Given the description of an element on the screen output the (x, y) to click on. 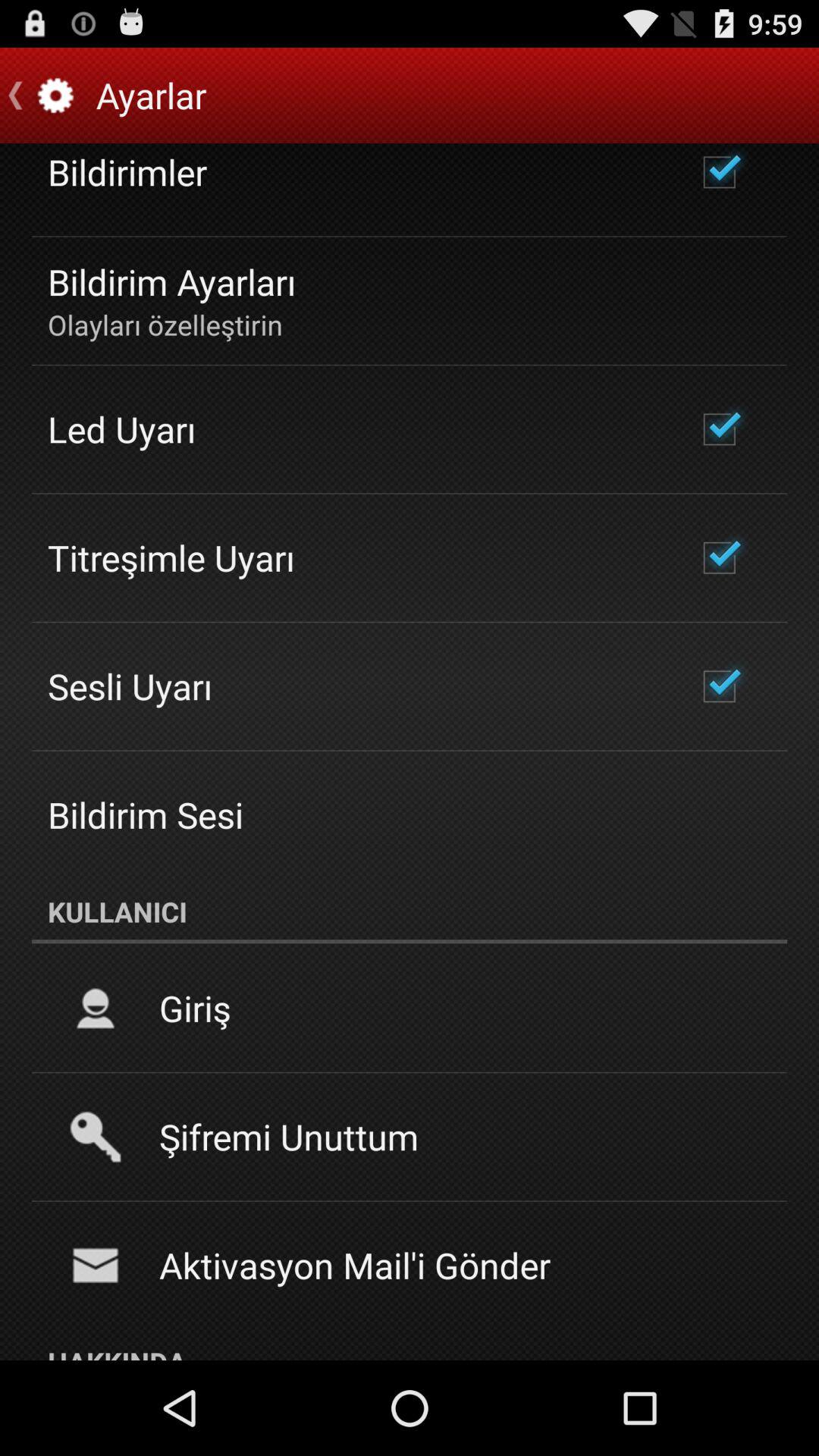
open the kullanici at the center (409, 911)
